Given the description of an element on the screen output the (x, y) to click on. 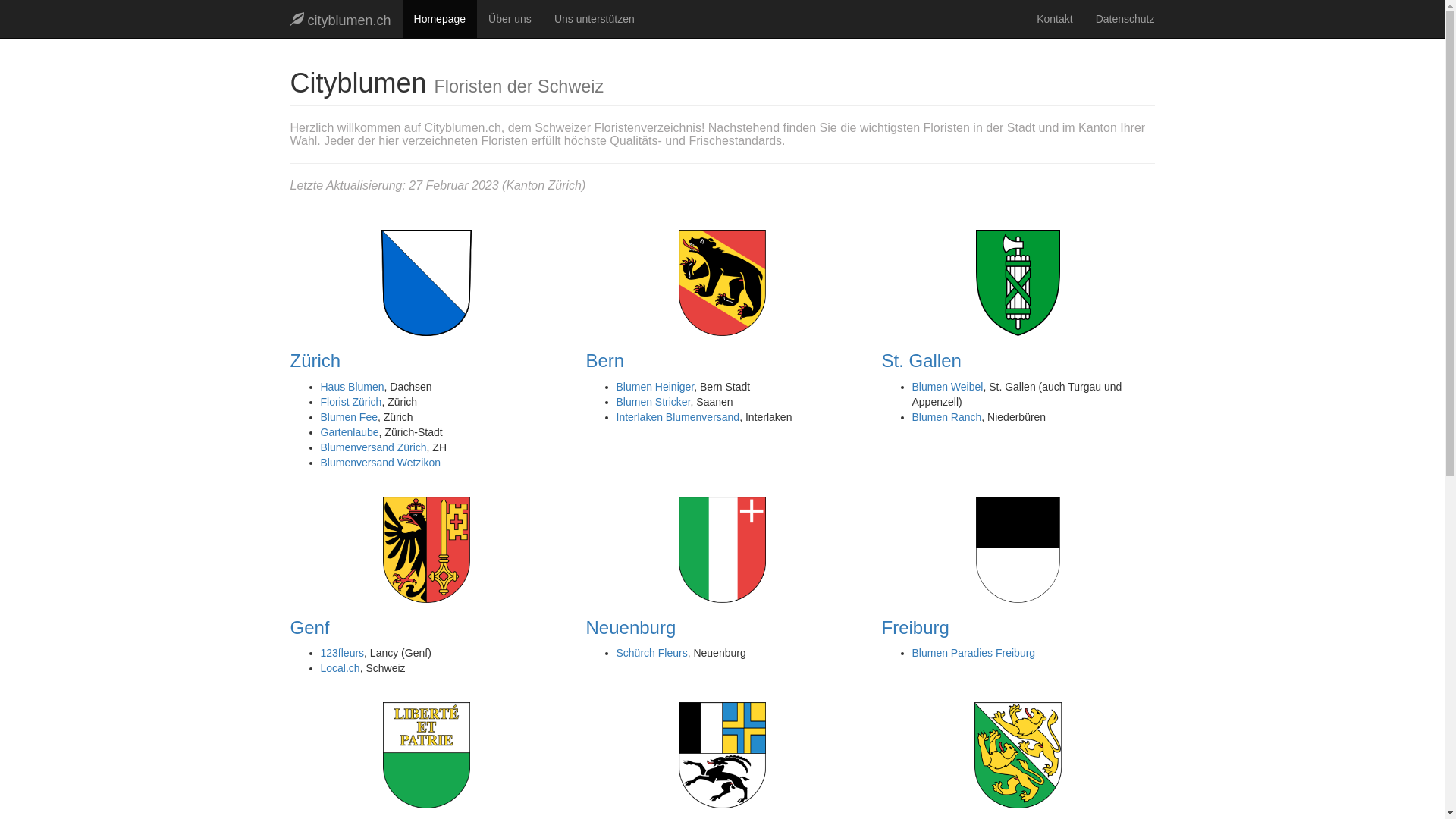
Blumen Stricker Element type: text (652, 401)
Blumenversand Wetzikon Element type: text (379, 462)
Homepage Element type: text (439, 18)
Blumen Ranch Element type: text (946, 417)
Blumen Paradies Freiburg Element type: text (973, 652)
St. Gallen Element type: text (920, 360)
Local.ch Element type: text (339, 668)
Blumen Fee Element type: text (348, 417)
Haus Blumen Element type: text (351, 386)
Datenschutz Element type: text (1125, 18)
Genf Element type: text (309, 627)
Blumen Weibel Element type: text (946, 386)
Neuenburg Element type: text (630, 627)
123fleurs Element type: text (342, 652)
cityblumen.ch Element type: text (340, 18)
Gartenlaube Element type: text (349, 432)
Interlaken Blumenversand Element type: text (677, 417)
Bern Element type: text (604, 360)
Blumen Heiniger Element type: text (654, 386)
Freiburg Element type: text (914, 627)
Kontakt Element type: text (1054, 18)
